Given the description of an element on the screen output the (x, y) to click on. 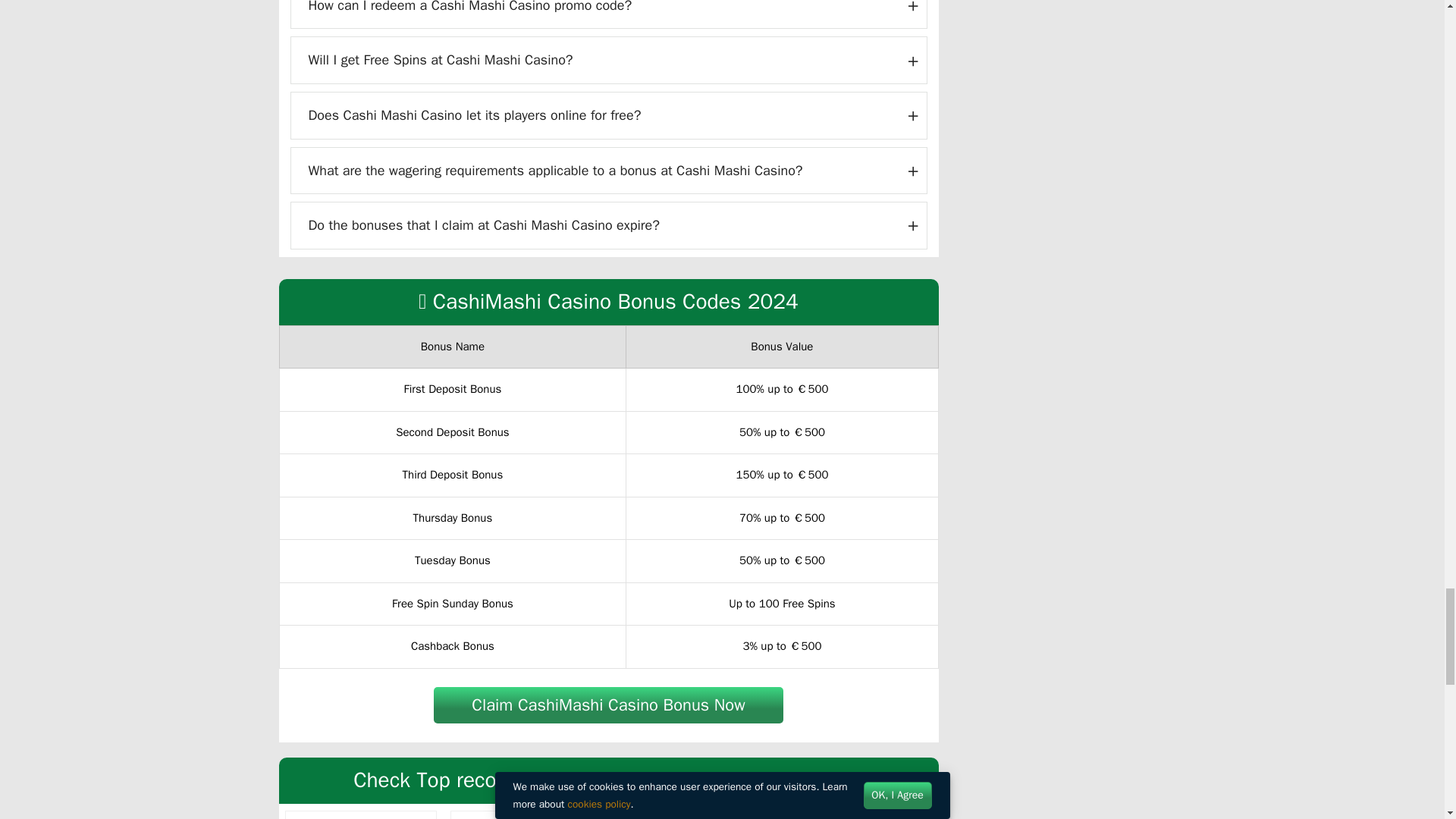
1xBet Casino (803, 816)
Super Slots Casino (308, 816)
Run4Win Casino (473, 816)
N1 Casino (639, 816)
